Given the description of an element on the screen output the (x, y) to click on. 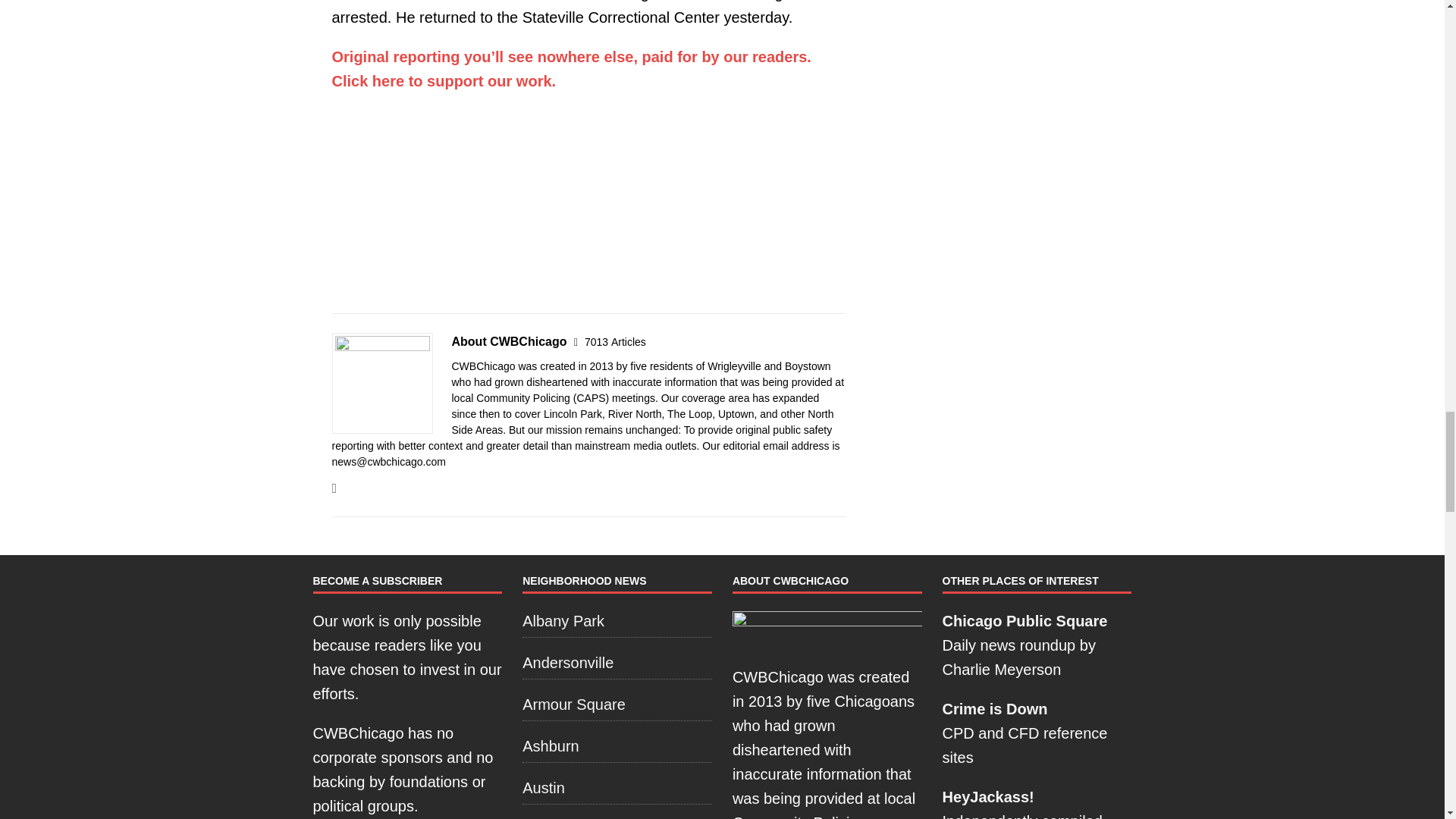
More articles written by CWBChicago' (615, 341)
Ashburn (616, 746)
7013 Articles (615, 341)
Austin (616, 787)
Andersonville (616, 662)
Click here to support our work. (443, 80)
Armour Square (616, 704)
Avalon Park (616, 816)
Albany Park (616, 623)
